Given the description of an element on the screen output the (x, y) to click on. 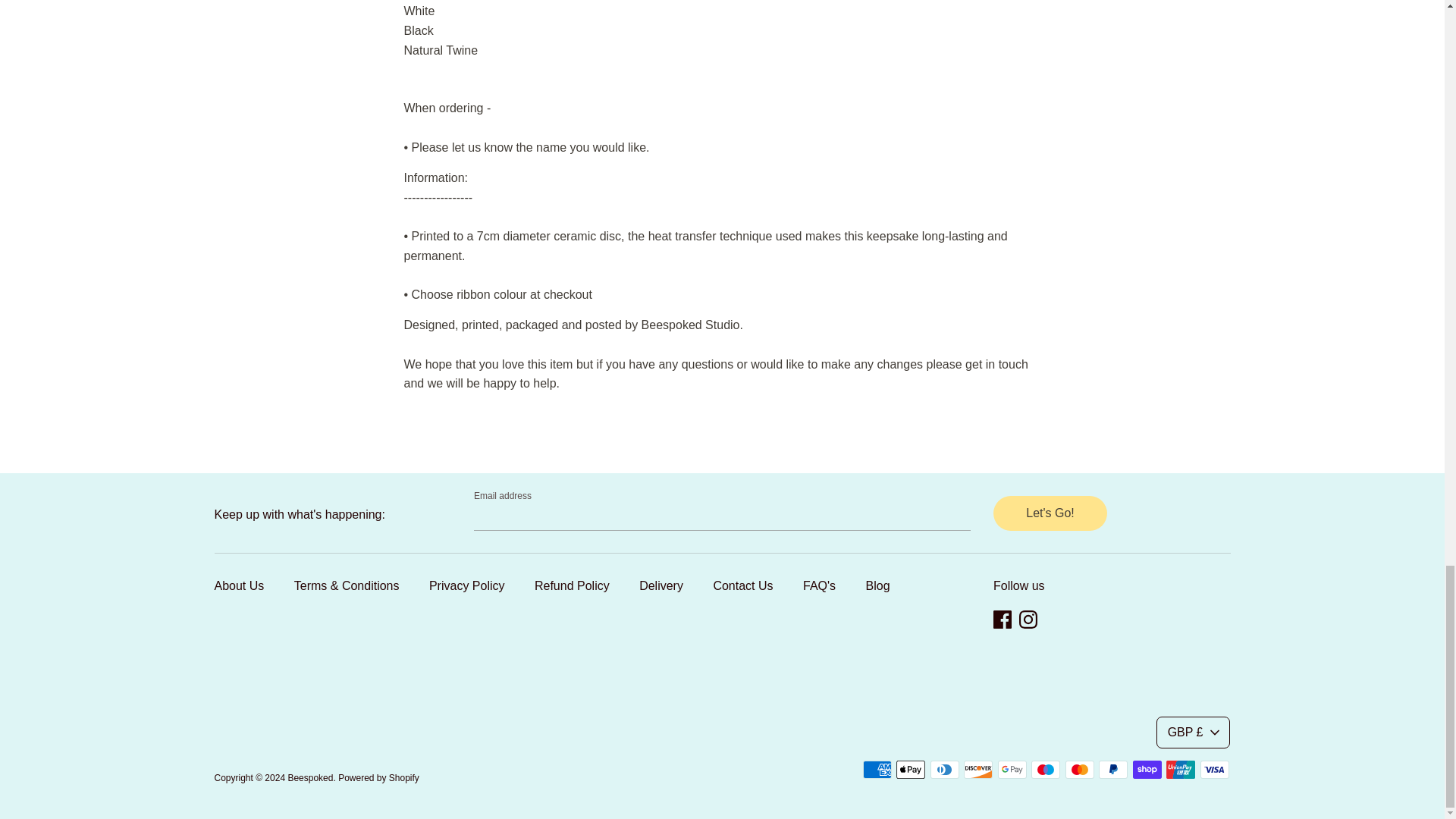
Diners Club (944, 769)
Apple Pay (910, 769)
American Express (877, 769)
Discover (977, 769)
